Given the description of an element on the screen output the (x, y) to click on. 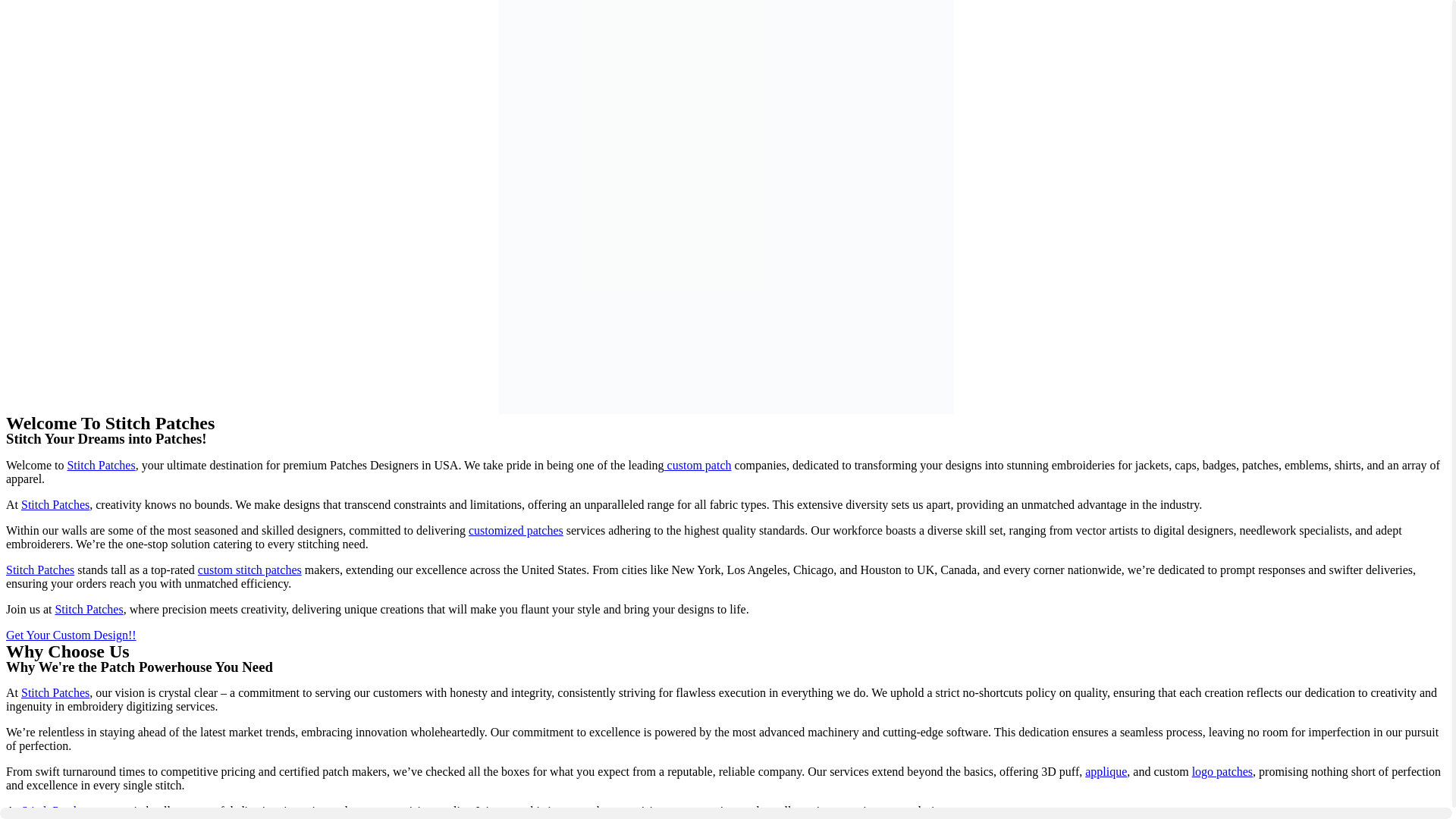
customized patches (515, 530)
Stitch Patches (54, 504)
Get Your Custom Design!! (70, 634)
Stitch Patches (54, 810)
Stitch Patches (100, 464)
custom patch (697, 464)
logo patches (1222, 771)
custom stitch patches (249, 569)
applique (1105, 771)
